Given the description of an element on the screen output the (x, y) to click on. 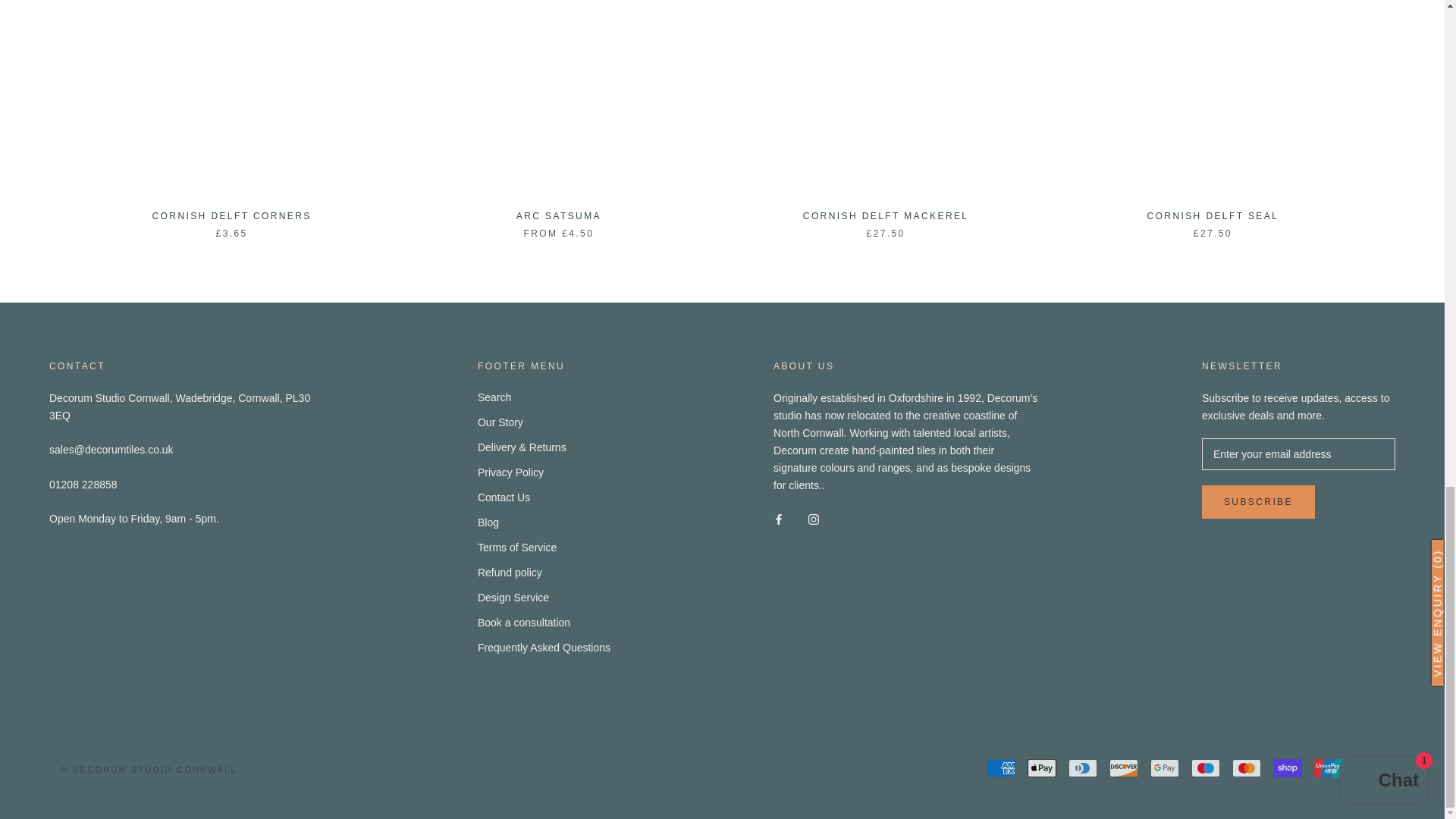
Maestro (1205, 768)
Google Pay (1164, 768)
Mastercard (1245, 768)
Shop Pay (1286, 768)
American Express (1000, 768)
Visa (1369, 768)
Union Pay (1328, 768)
Diners Club (1082, 768)
Discover (1123, 768)
Apple Pay (1042, 768)
